Given the description of an element on the screen output the (x, y) to click on. 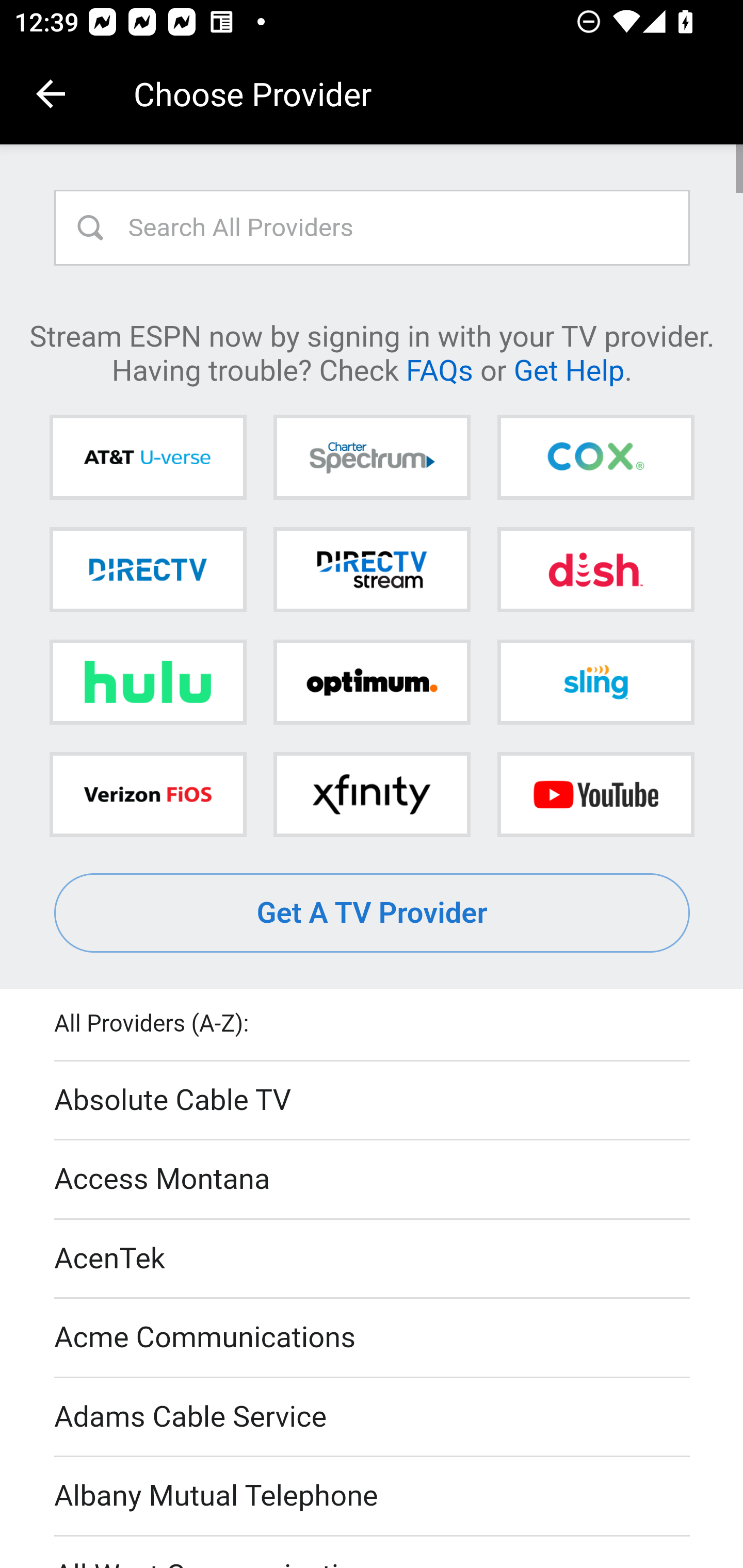
Navigate up (50, 93)
FAQs (438, 369)
Get Help (569, 369)
AT&T U-verse (147, 457)
Charter Spectrum (371, 457)
Cox (595, 457)
DIRECTV (147, 568)
DIRECTV STREAM (371, 568)
DISH (595, 568)
Hulu (147, 681)
Optimum (371, 681)
Sling TV (595, 681)
Verizon FiOS (147, 793)
Xfinity (371, 793)
YouTube TV (595, 793)
Get A TV Provider (372, 912)
Absolute Cable TV (372, 1100)
Access Montana (372, 1178)
AcenTek (372, 1258)
Acme Communications (372, 1338)
Adams Cable Service (372, 1417)
Albany Mutual Telephone (372, 1497)
